Given the description of an element on the screen output the (x, y) to click on. 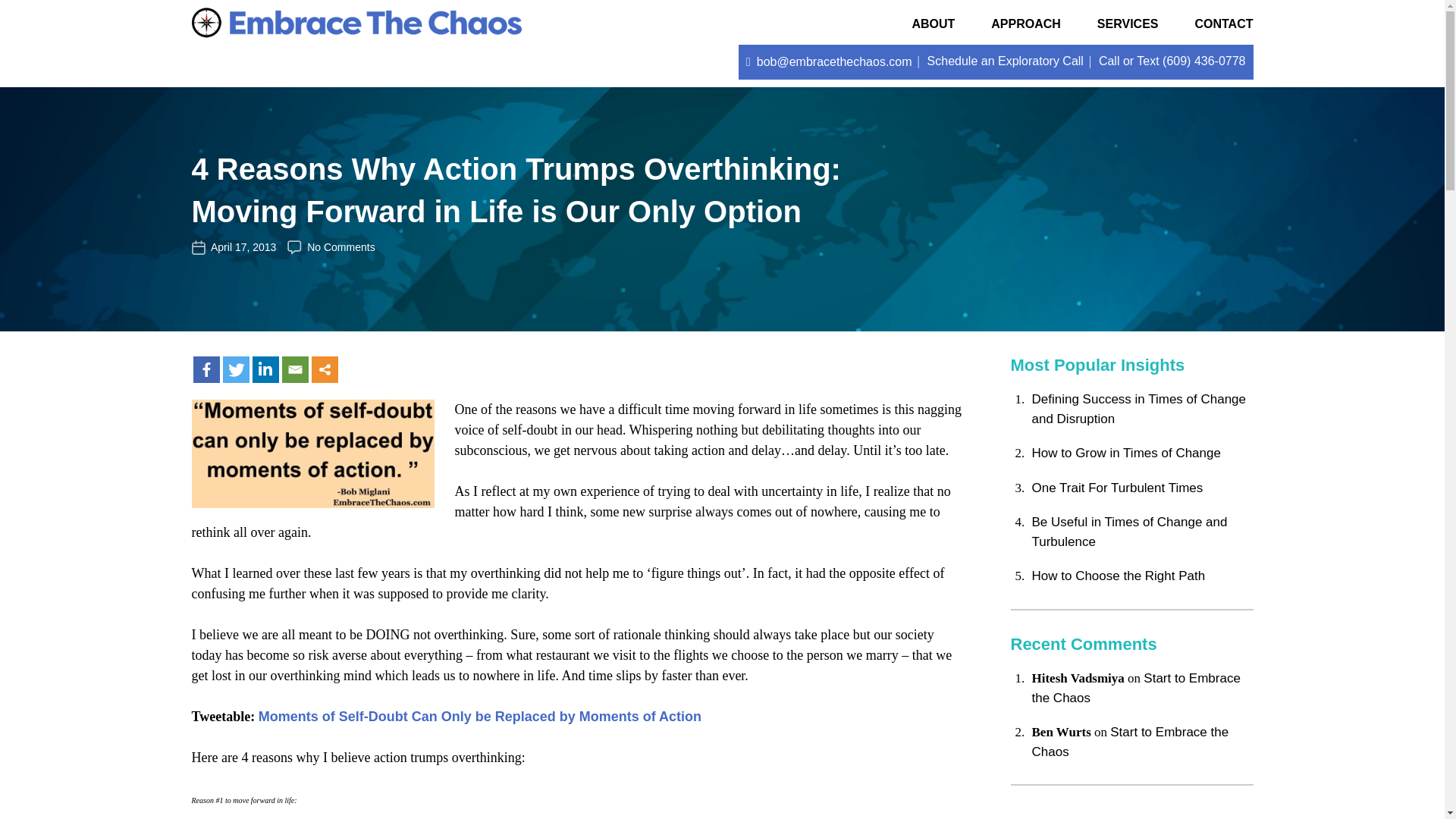
How to Grow in Times of Change (1125, 452)
Facebook (205, 369)
Linkedin (264, 369)
Twitter (235, 369)
No Comments (340, 246)
April 17, 2013 (243, 246)
One Trait For Turbulent Times (1116, 487)
Schedule an Exploratory Call (1005, 61)
Email (295, 369)
ABOUT (933, 21)
